Given the description of an element on the screen output the (x, y) to click on. 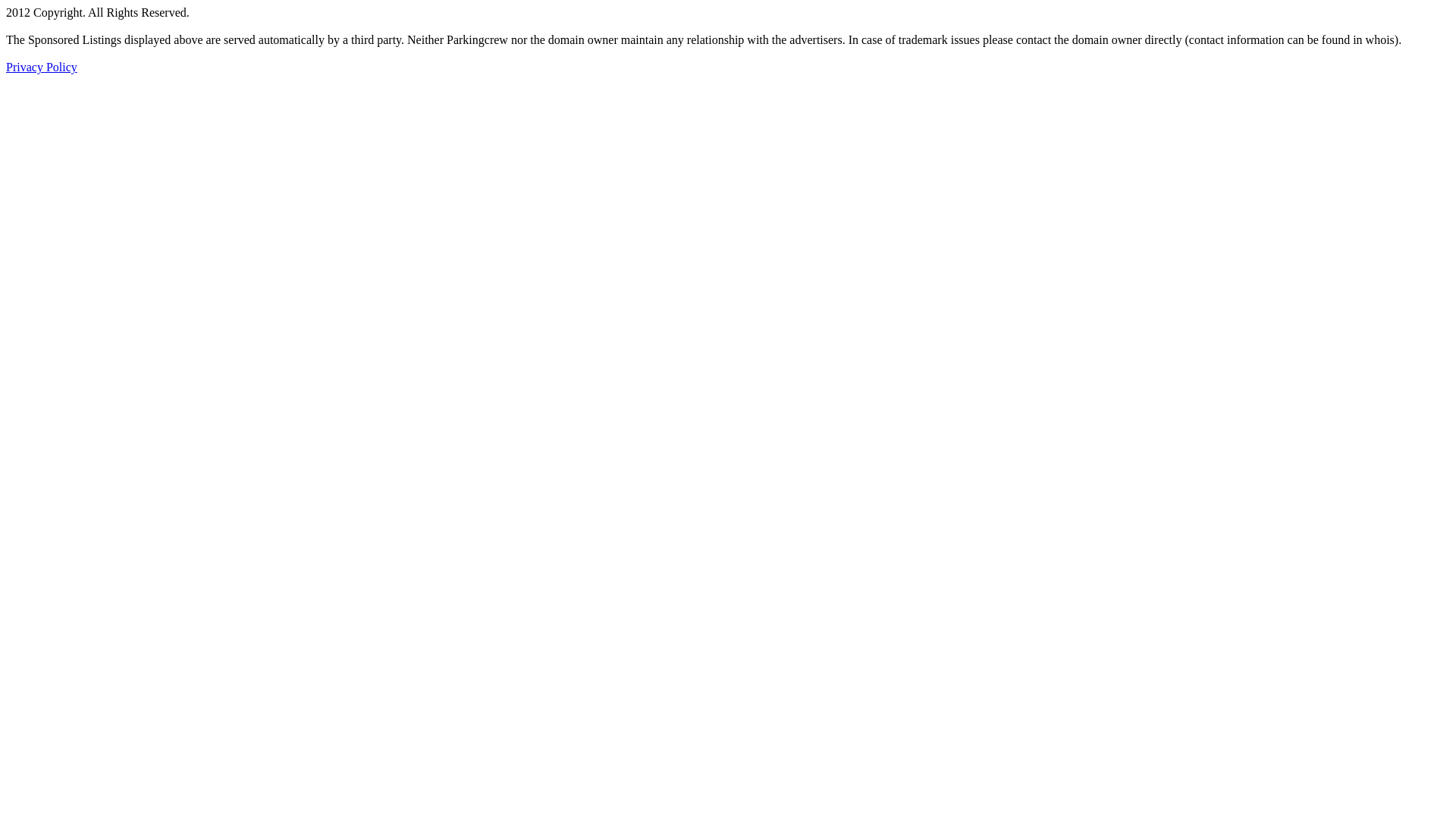
Privacy Policy Element type: text (41, 66)
